Given the description of an element on the screen output the (x, y) to click on. 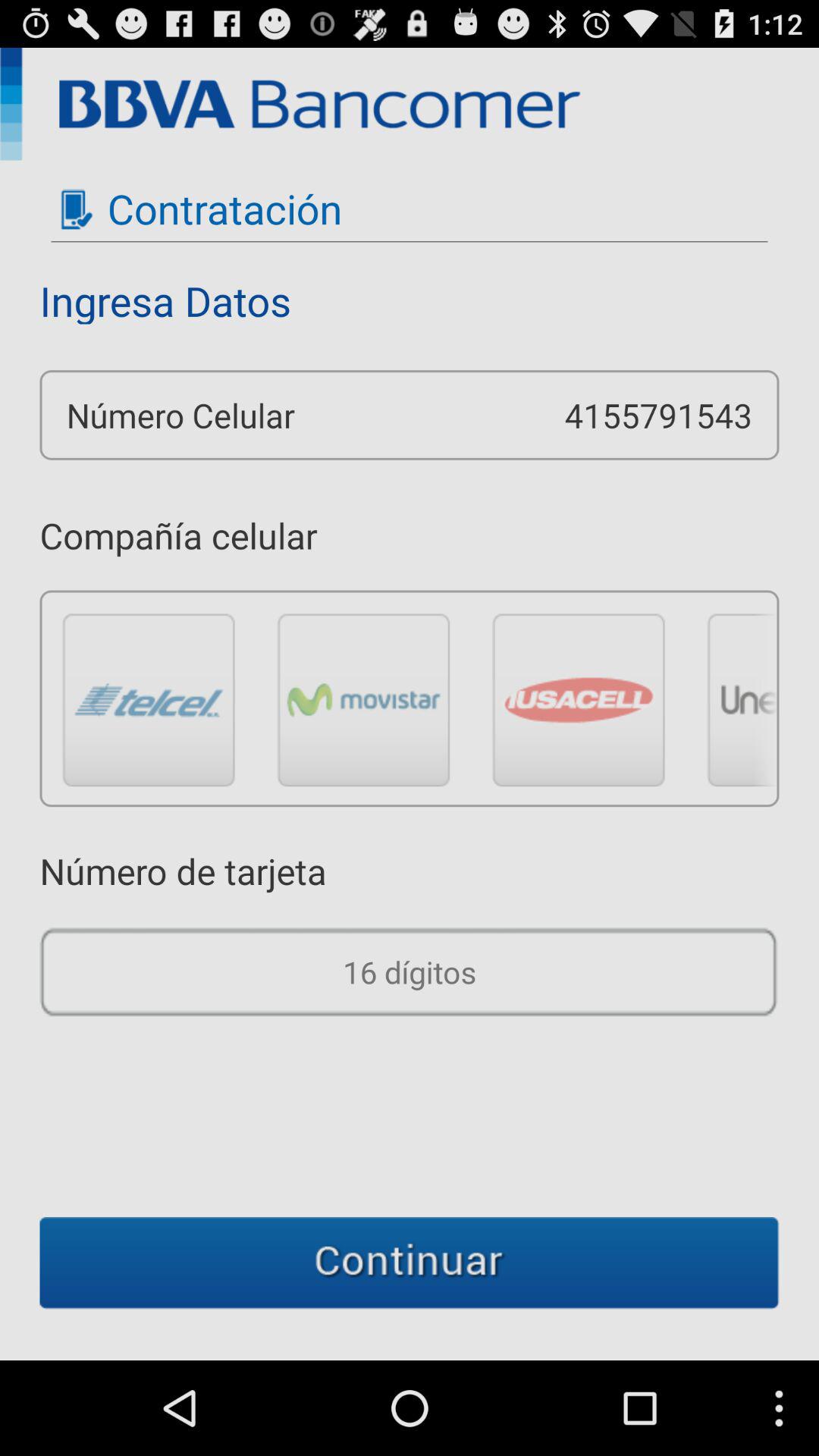
shows the number option (409, 971)
